Given the description of an element on the screen output the (x, y) to click on. 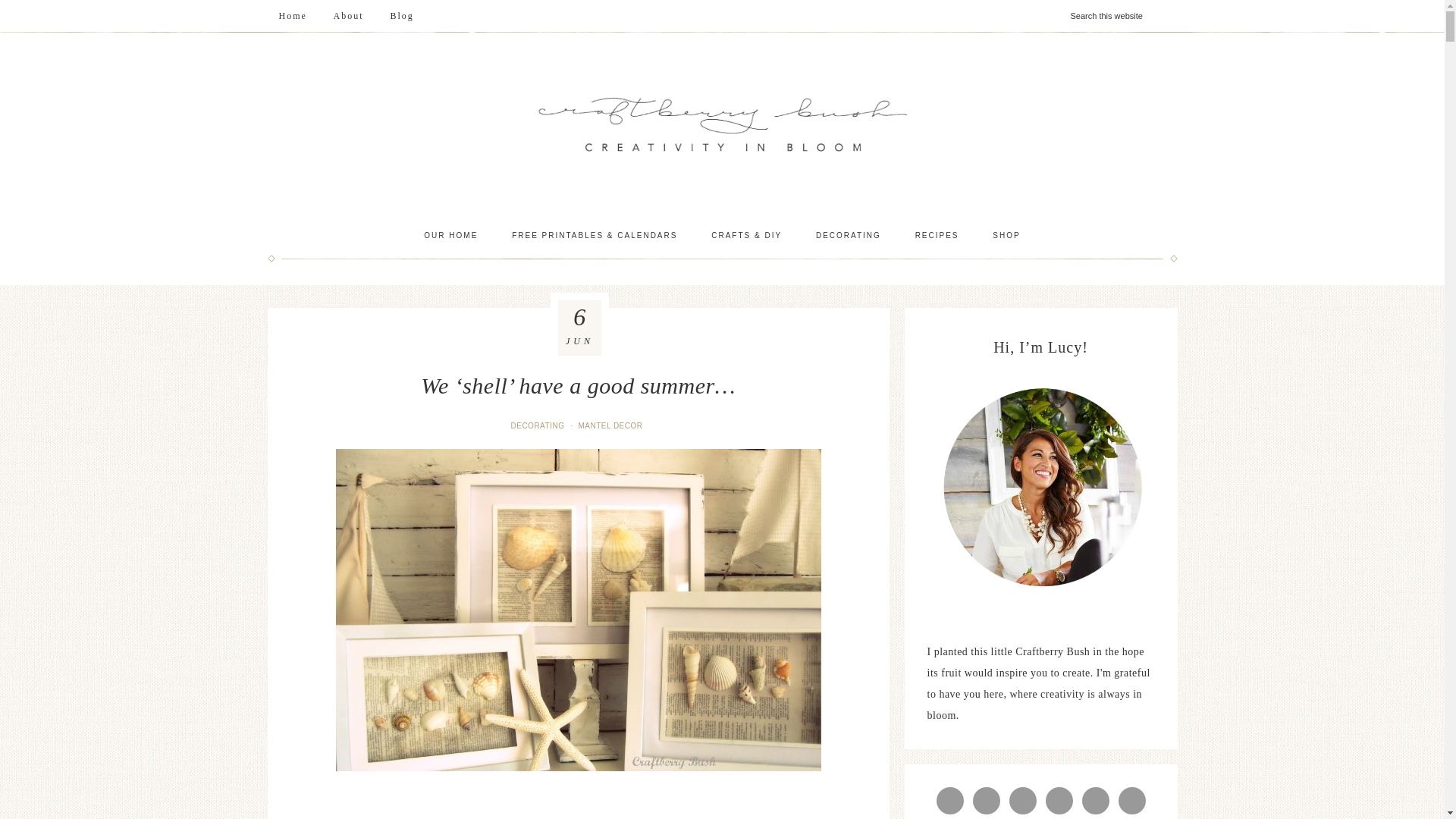
CRAFTBERRY BUSH (722, 124)
About (348, 15)
OUR HOME (451, 235)
Home (291, 15)
RECIPES (936, 235)
DECORATING (848, 235)
Blog (401, 15)
